Given the description of an element on the screen output the (x, y) to click on. 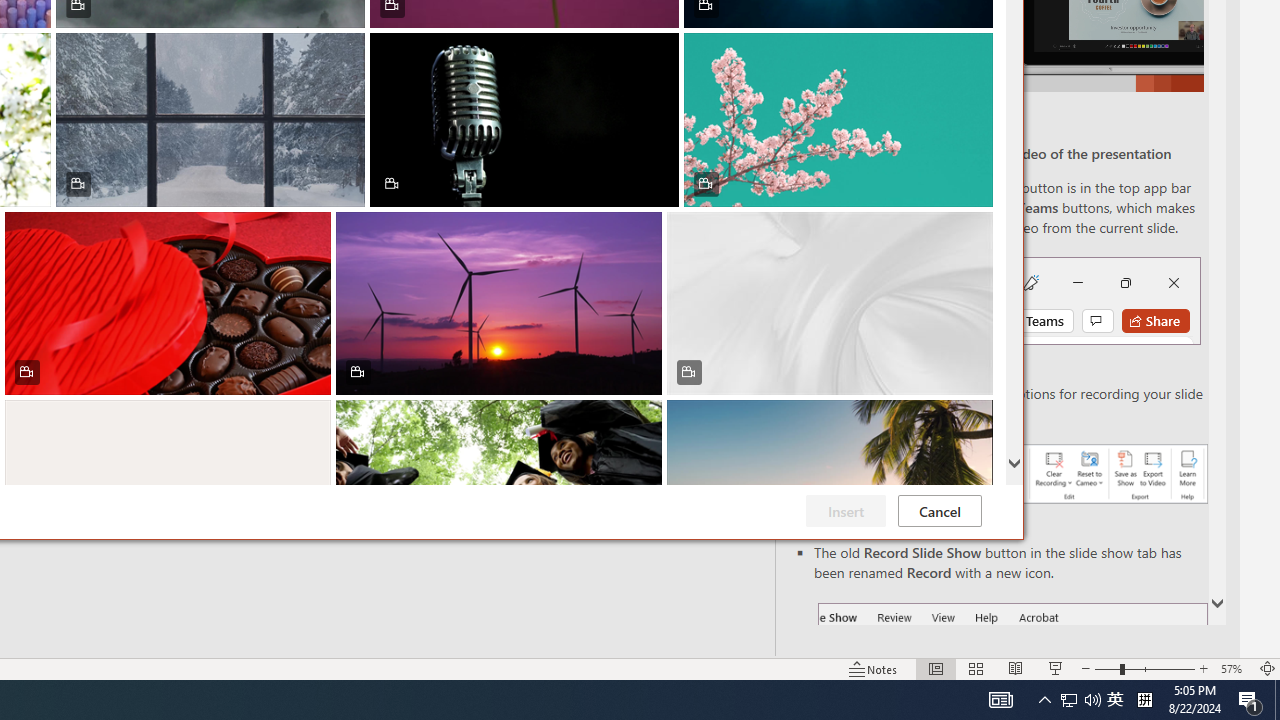
Zoom 57% (1234, 668)
Action Center, 1 new notification (1250, 699)
Cancel (939, 511)
